Given the description of an element on the screen output the (x, y) to click on. 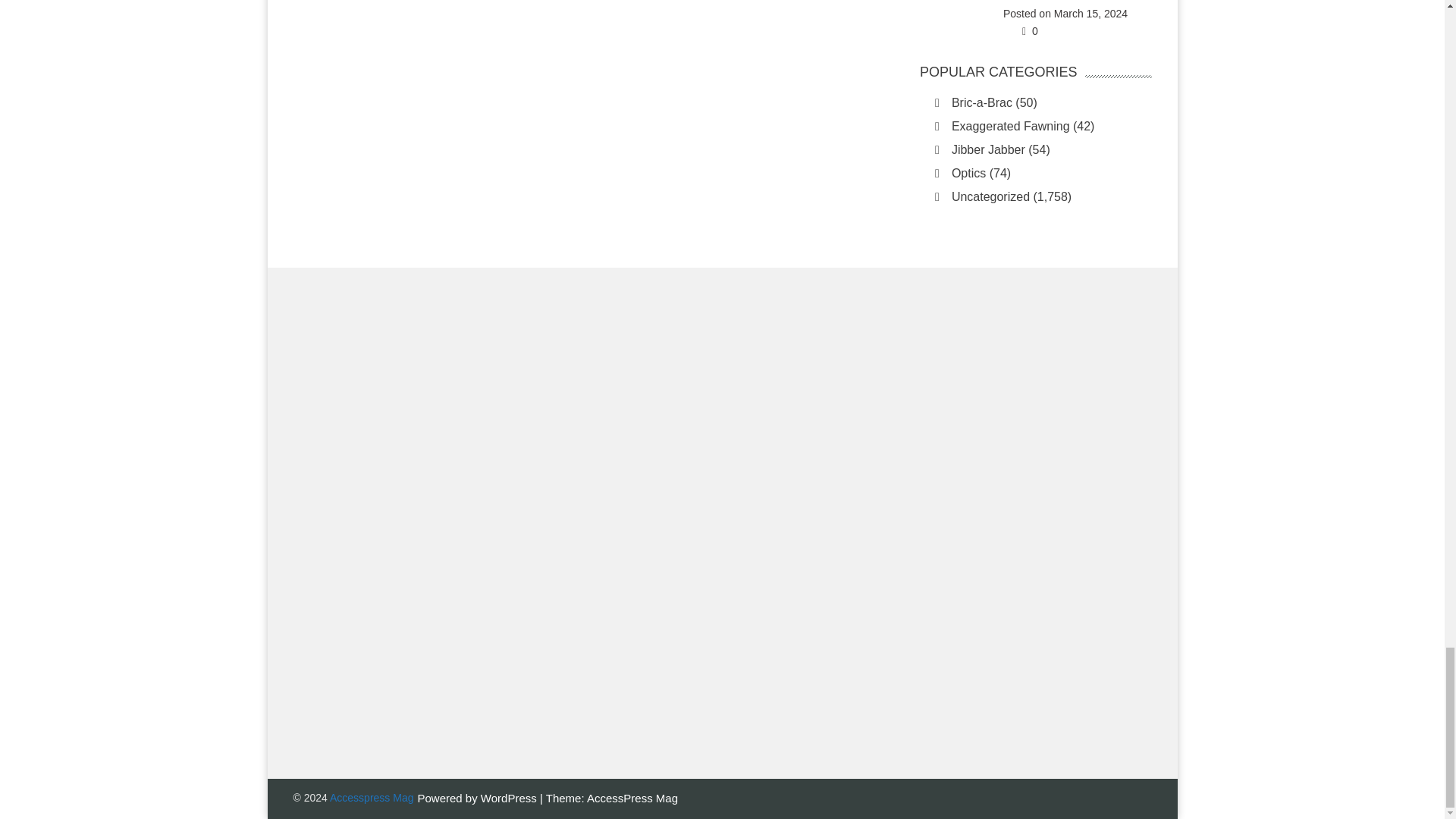
AccessPress Themes (632, 797)
